Given the description of an element on the screen output the (x, y) to click on. 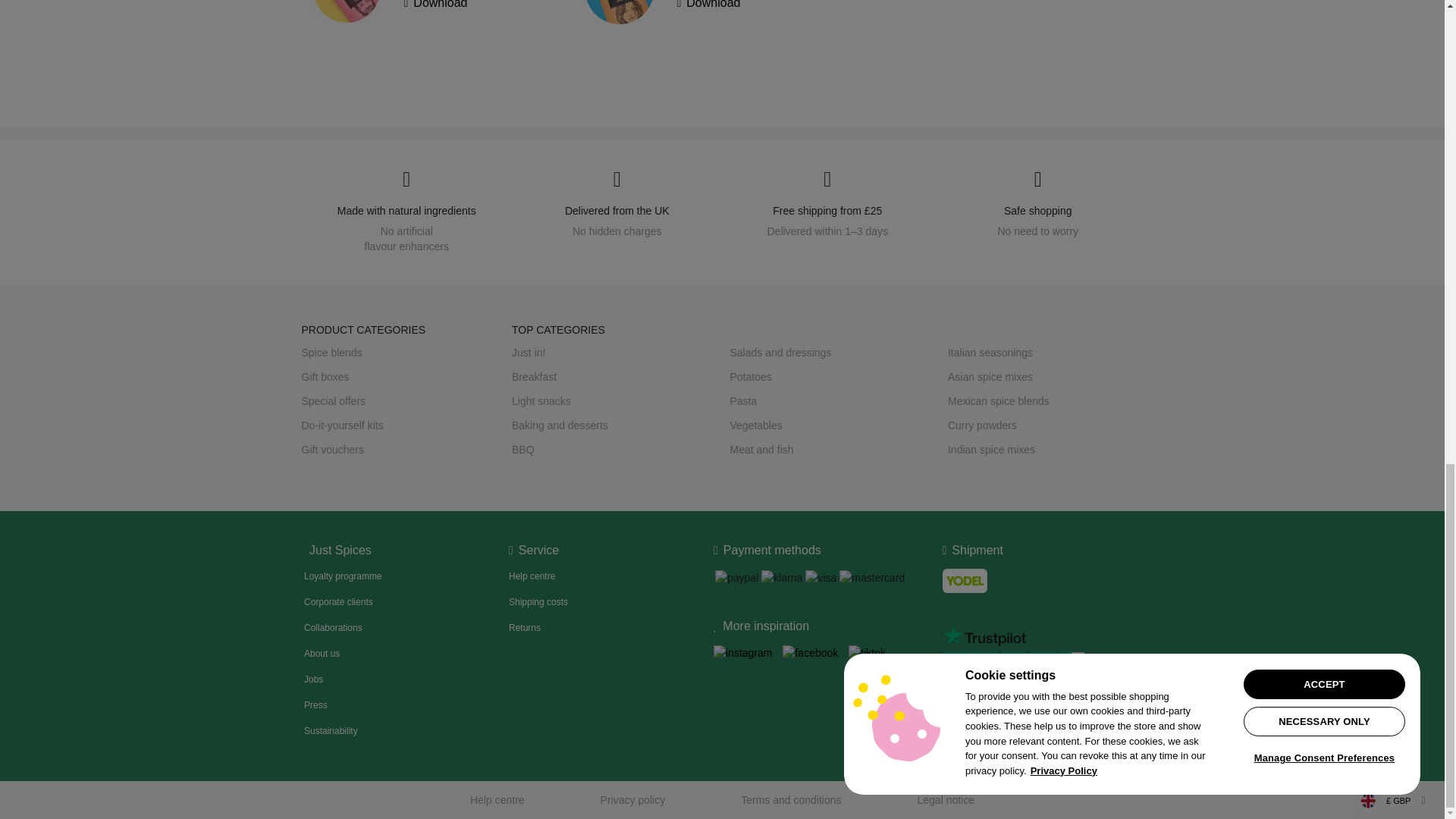
Customer reviews powered by Trustpilot (1017, 681)
